Given the description of an element on the screen output the (x, y) to click on. 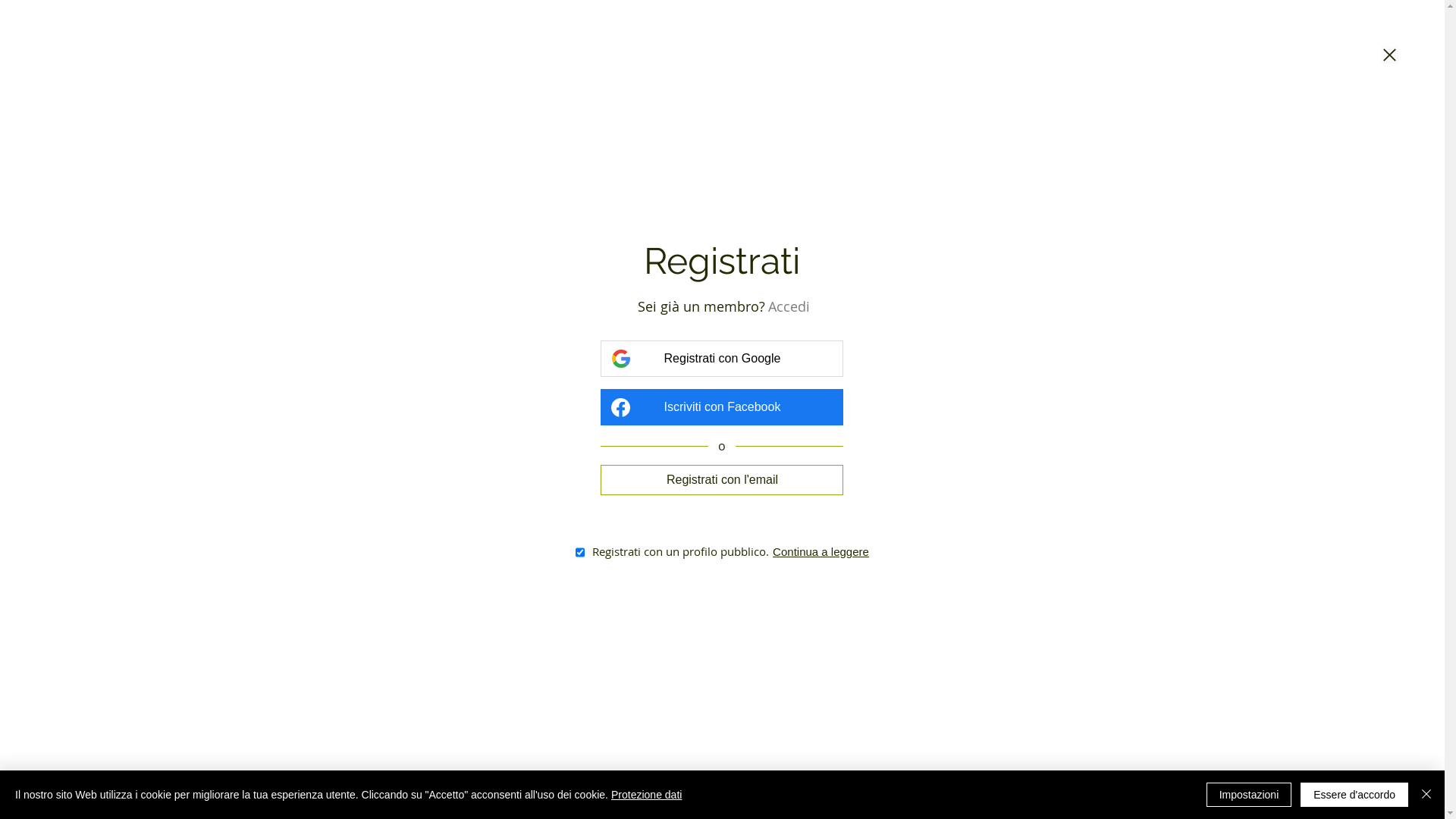
Essere d'accordo Element type: text (1354, 794)
Registrati con l'email Element type: text (721, 479)
Accedi Element type: text (788, 306)
Iscriviti con Facebook Element type: text (721, 407)
Protezione dati Element type: text (646, 794)
Impostazioni Element type: text (1249, 794)
Registrati con Google Element type: text (721, 358)
Continua a leggere Element type: text (820, 551)
